Given the description of an element on the screen output the (x, y) to click on. 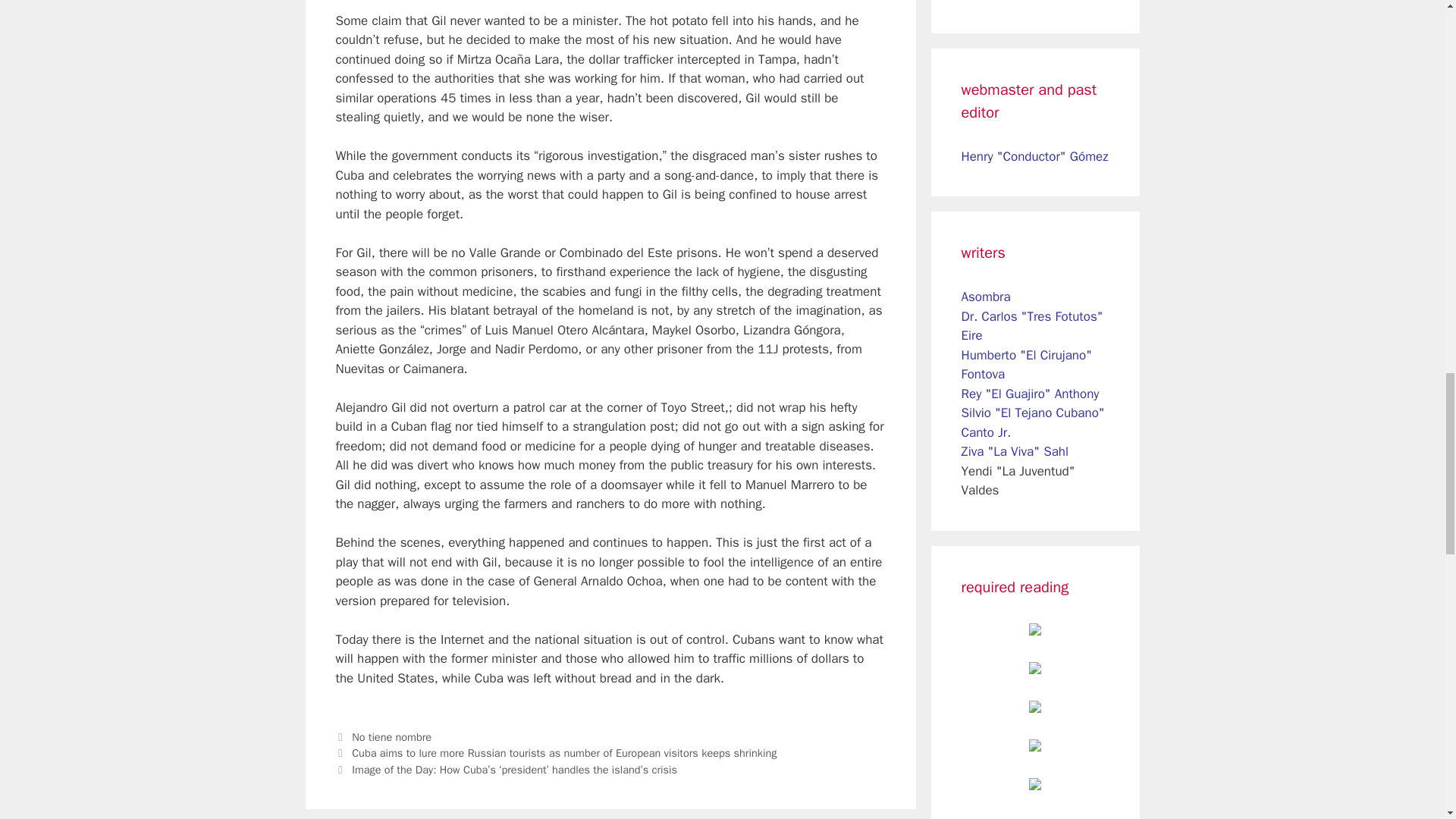
Dr. Carlos "Tres Fotutos" Eire (1031, 325)
Rey "El Guajiro" Anthony (1029, 393)
Ziva "La Viva" Sahl (1014, 451)
Asombra (985, 296)
Alberto "El Americanito" de la Cruz (1028, 0)
Silvio "El Tejano Cubano" Canto Jr. (1032, 422)
No tiene nombre (391, 736)
Humberto "El Cirujano" Fontova (1026, 365)
